Given the description of an element on the screen output the (x, y) to click on. 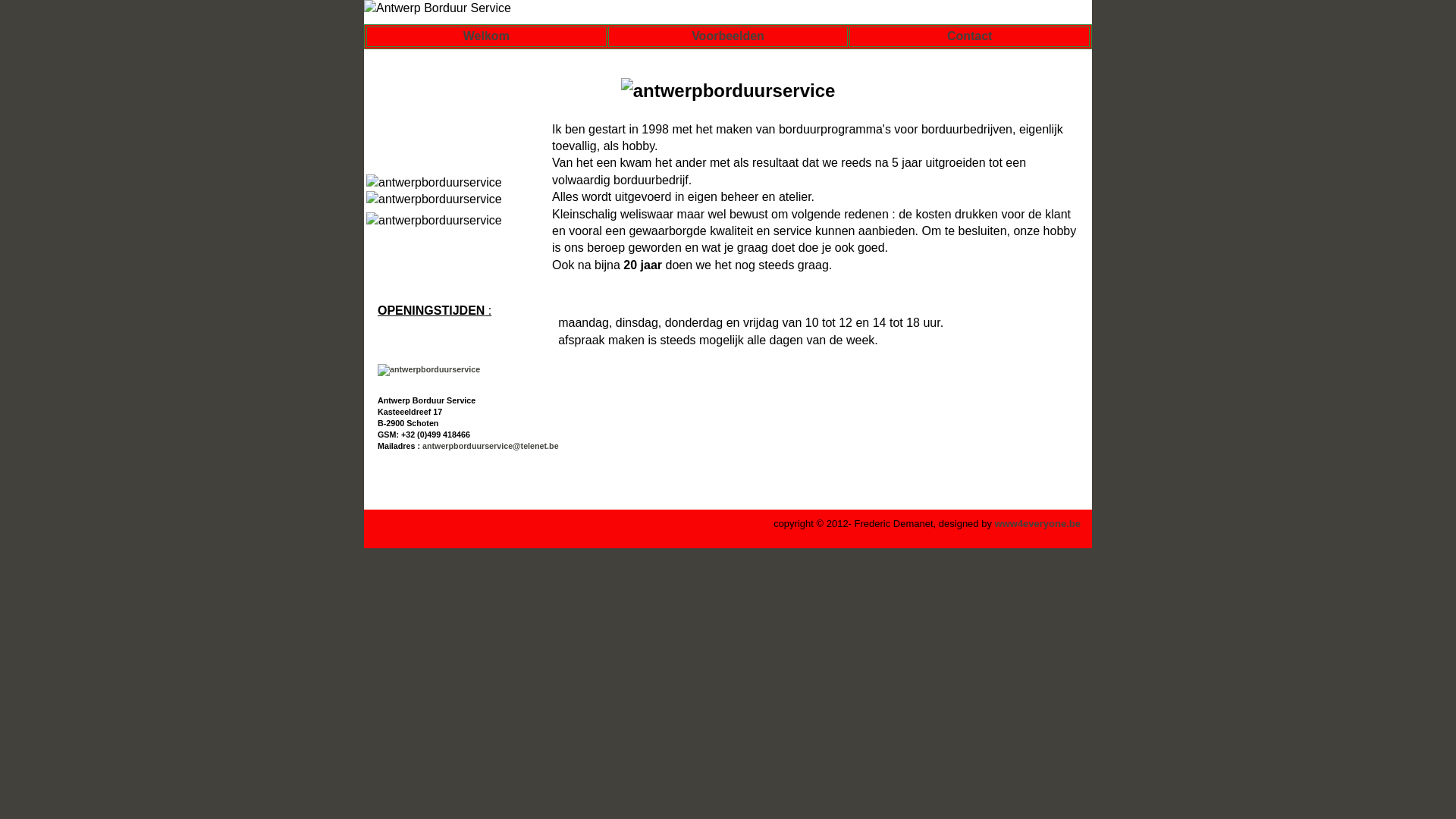
antwerpborduurservice@telenet.be Element type: text (490, 445)
www4everyone.be Element type: text (1037, 523)
Voorbeelden Element type: text (727, 35)
Welkom Element type: text (486, 35)
Contact Element type: text (969, 35)
